Given the description of an element on the screen output the (x, y) to click on. 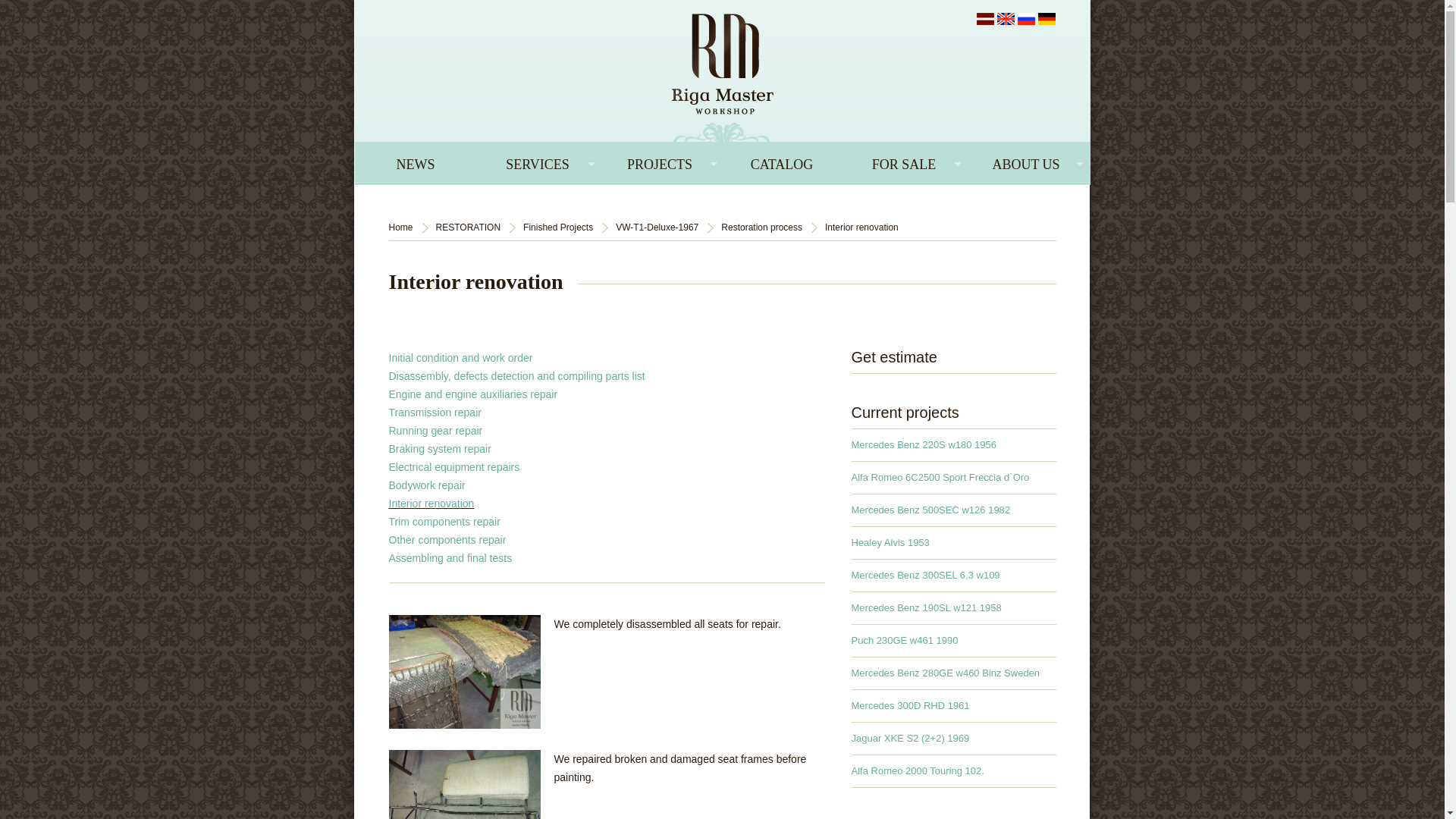
English (1004, 18)
CATALOG (781, 161)
NEWS (416, 161)
SERVICES (537, 161)
Russian (1026, 18)
FOR SALE (904, 161)
PROJECTS (659, 161)
ABOUT US (1024, 161)
